Given the description of an element on the screen output the (x, y) to click on. 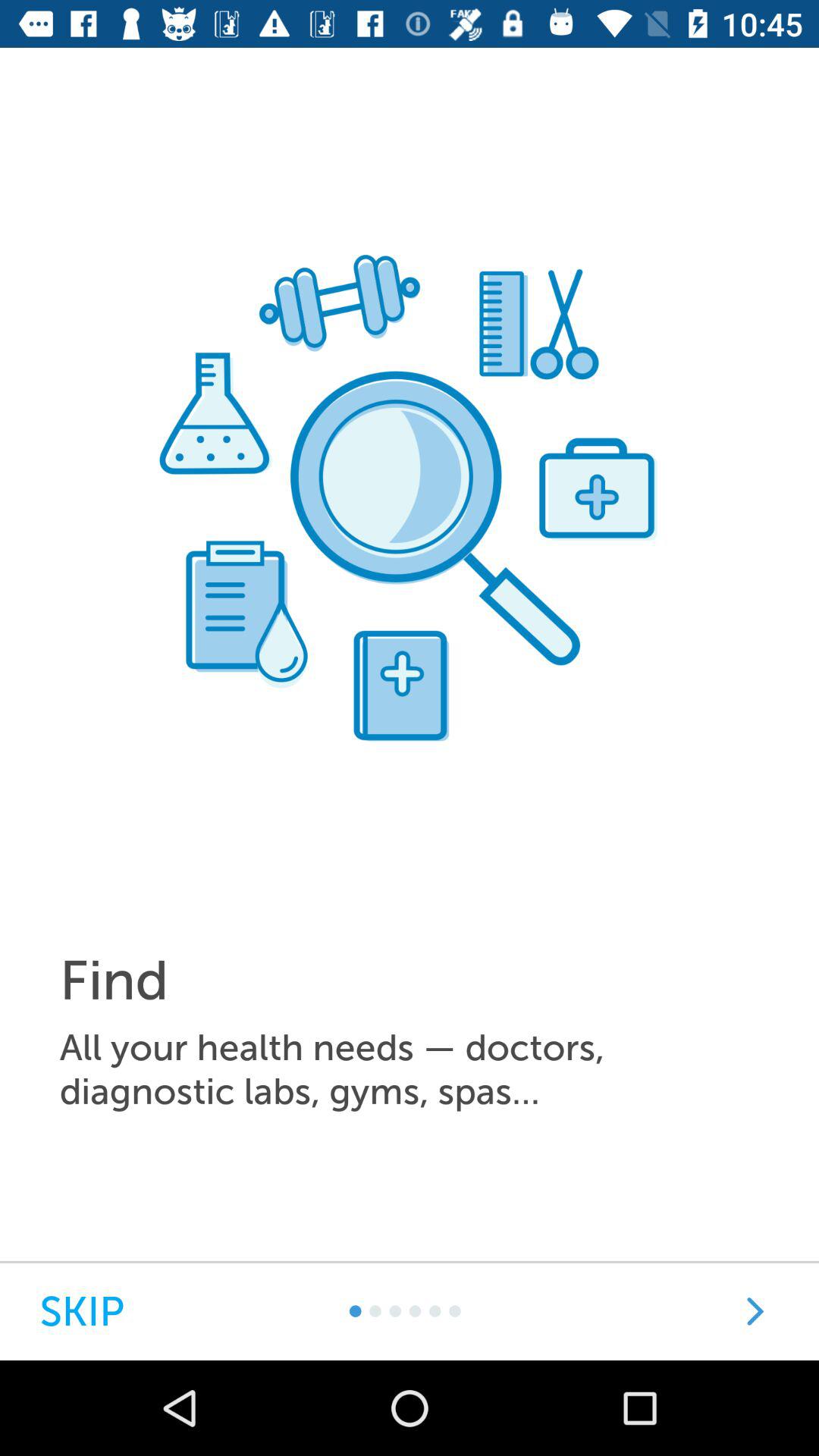
launch the skip (81, 1311)
